Given the description of an element on the screen output the (x, y) to click on. 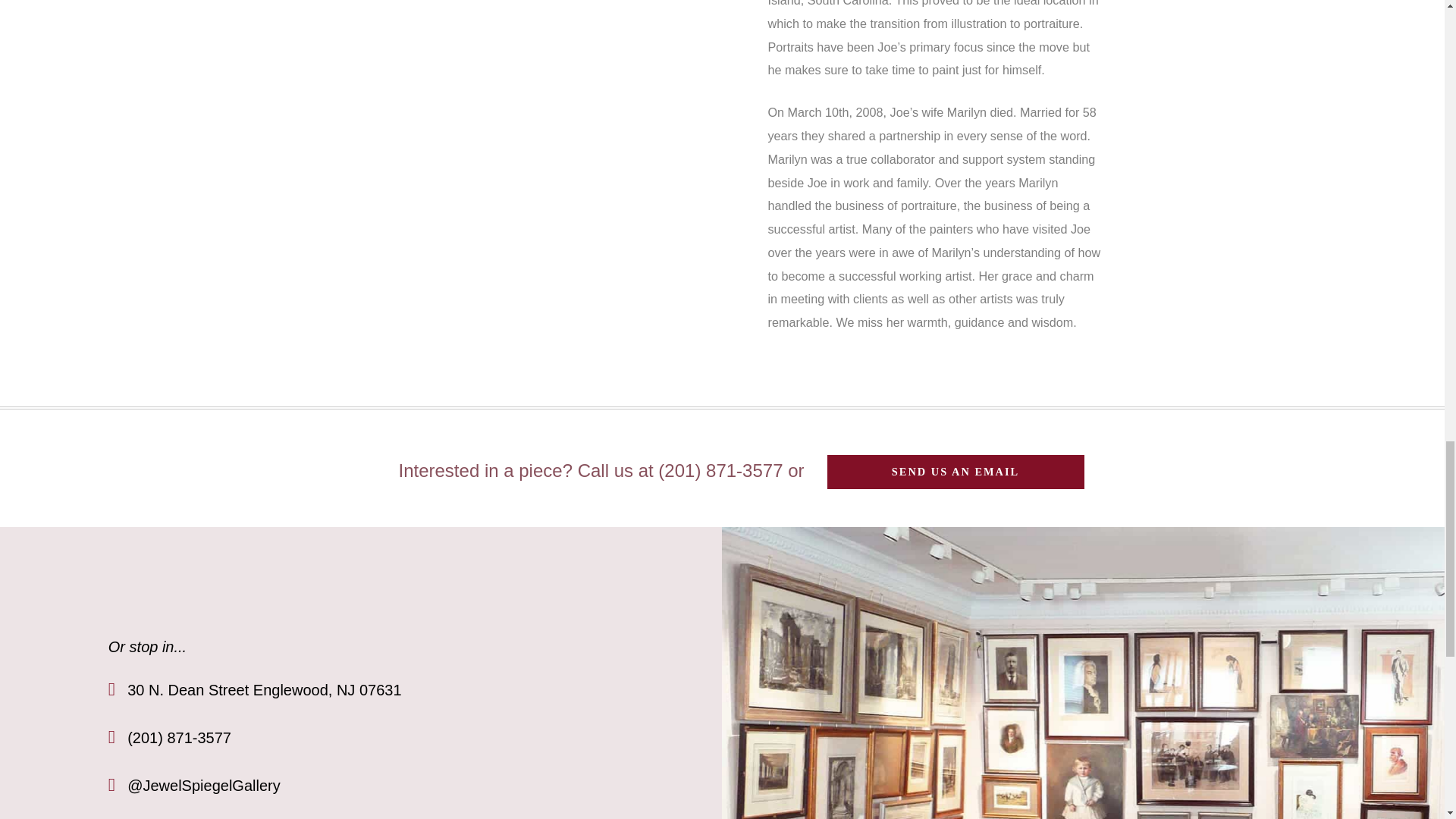
SEND US AN EMAIL (955, 471)
